Given the description of an element on the screen output the (x, y) to click on. 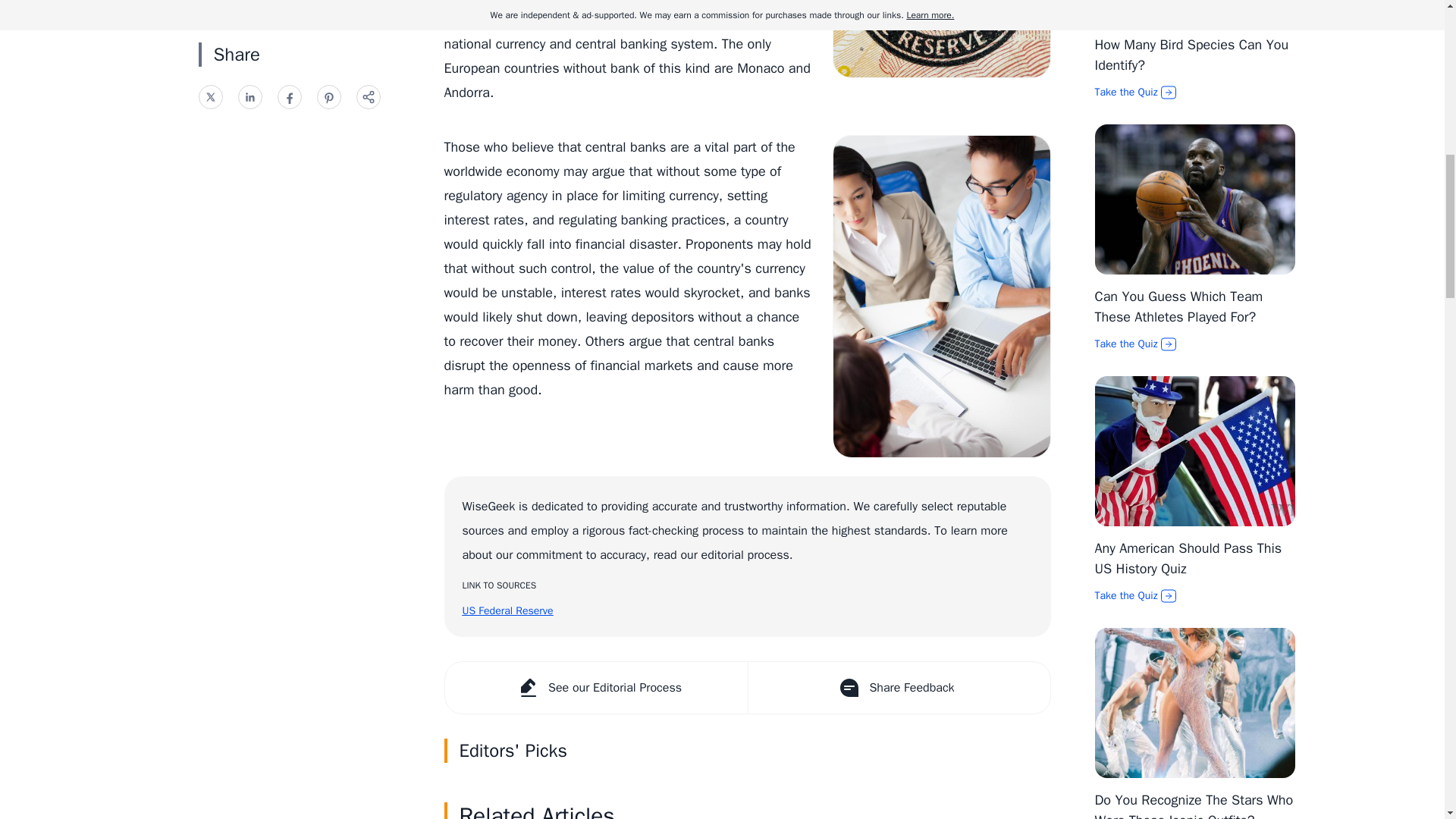
Share Feedback (898, 687)
See our Editorial Process (595, 687)
US Federal Reserve (508, 610)
Eurozone (471, 2)
